Given the description of an element on the screen output the (x, y) to click on. 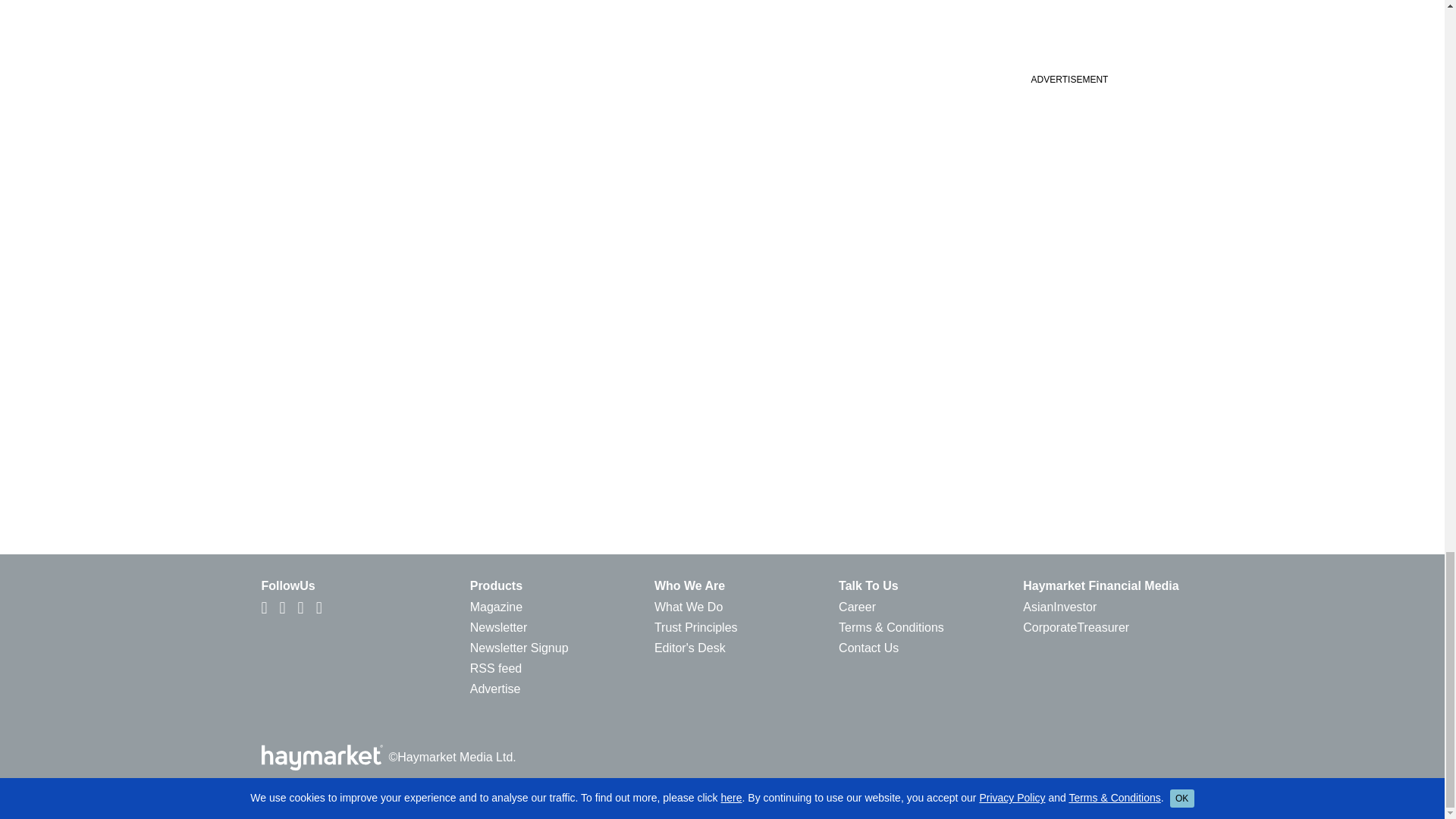
3rd party ad content (1068, 32)
